Given the description of an element on the screen output the (x, y) to click on. 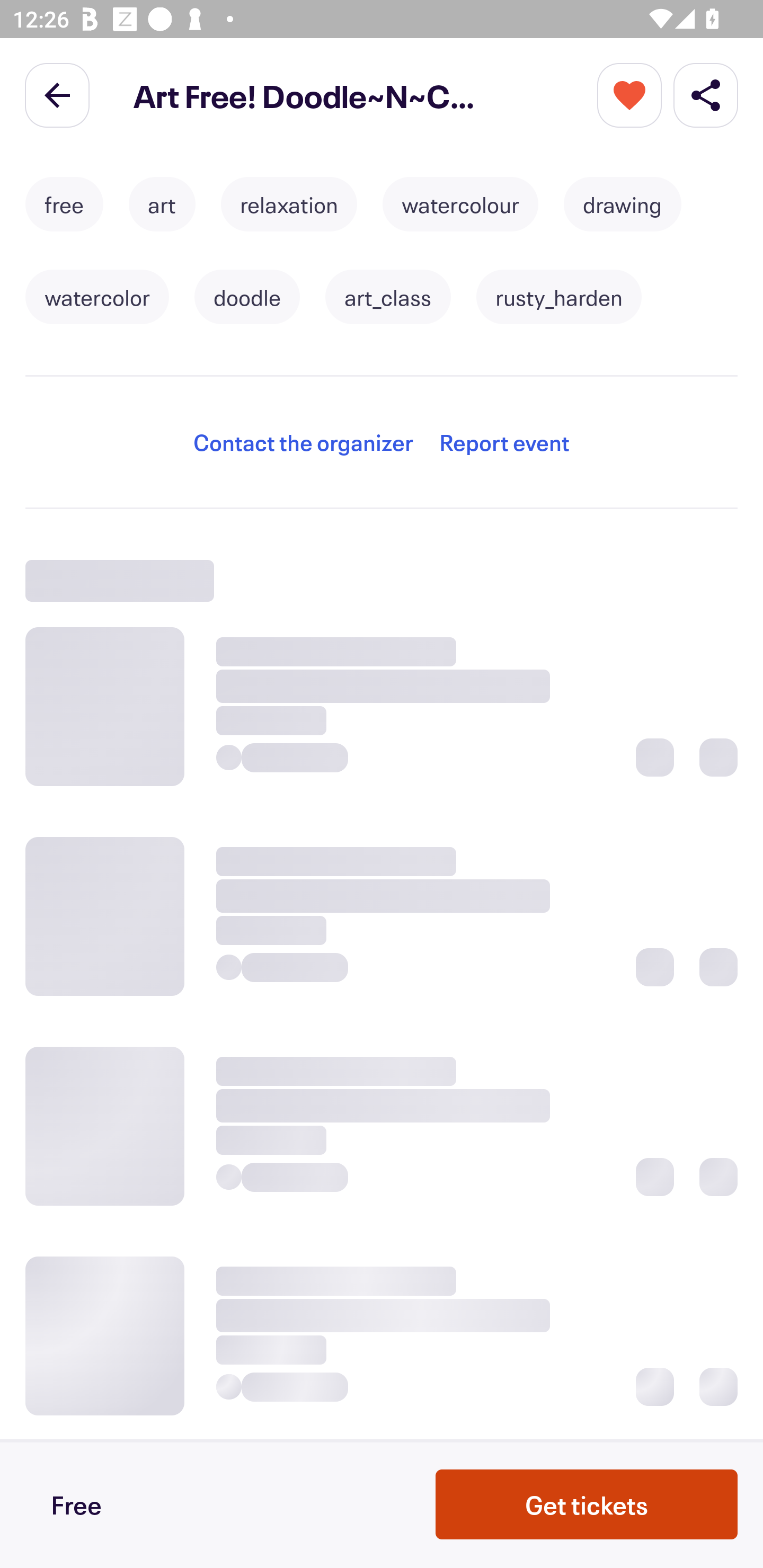
Back (57, 94)
More (629, 94)
Share (705, 94)
free (64, 204)
art (161, 204)
relaxation (289, 204)
watercolour (460, 204)
drawing (622, 204)
watercolor (97, 296)
doodle (246, 296)
art_class (387, 296)
rusty_harden (558, 296)
Contact the organizer (303, 441)
Report event (504, 441)
Get tickets (586, 1504)
